Given the description of an element on the screen output the (x, y) to click on. 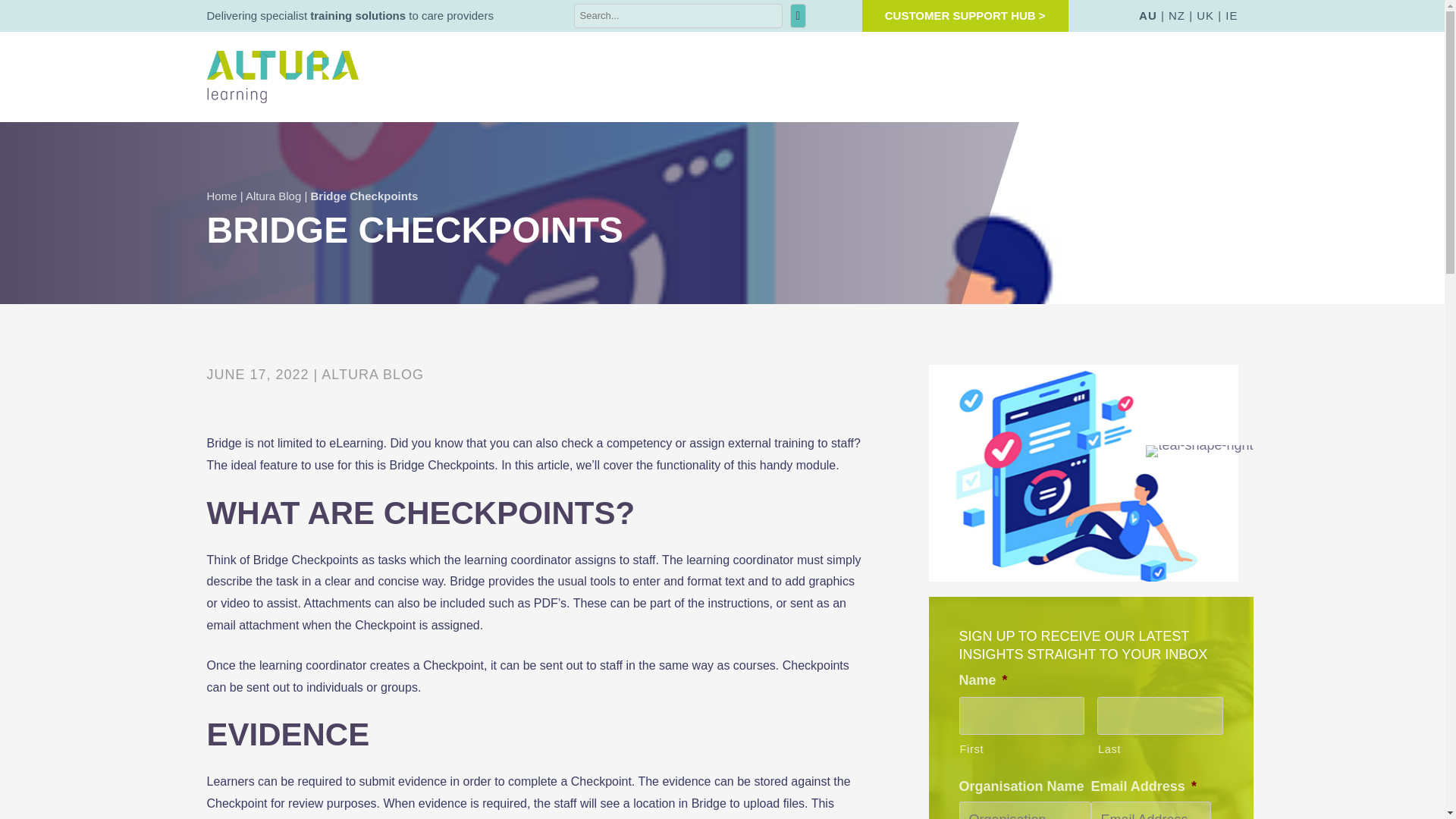
checkpoints-408x272 (1082, 472)
teal-shape-right (1198, 451)
NZ (1177, 15)
IE (1231, 15)
UK (1205, 15)
AU (1147, 15)
altura-learning-logo-main (282, 76)
